Given the description of an element on the screen output the (x, y) to click on. 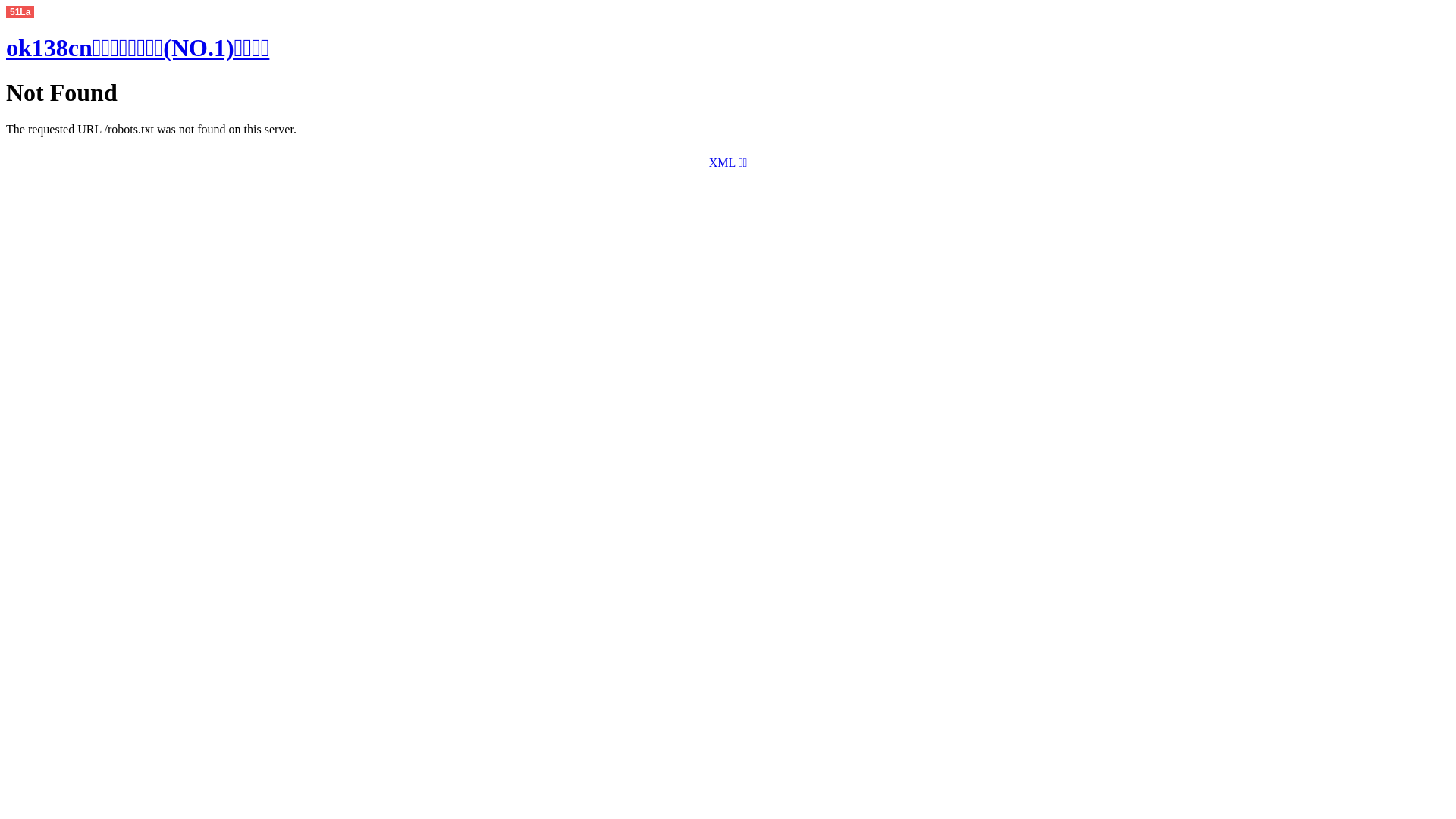
51La Element type: text (20, 10)
